Given the description of an element on the screen output the (x, y) to click on. 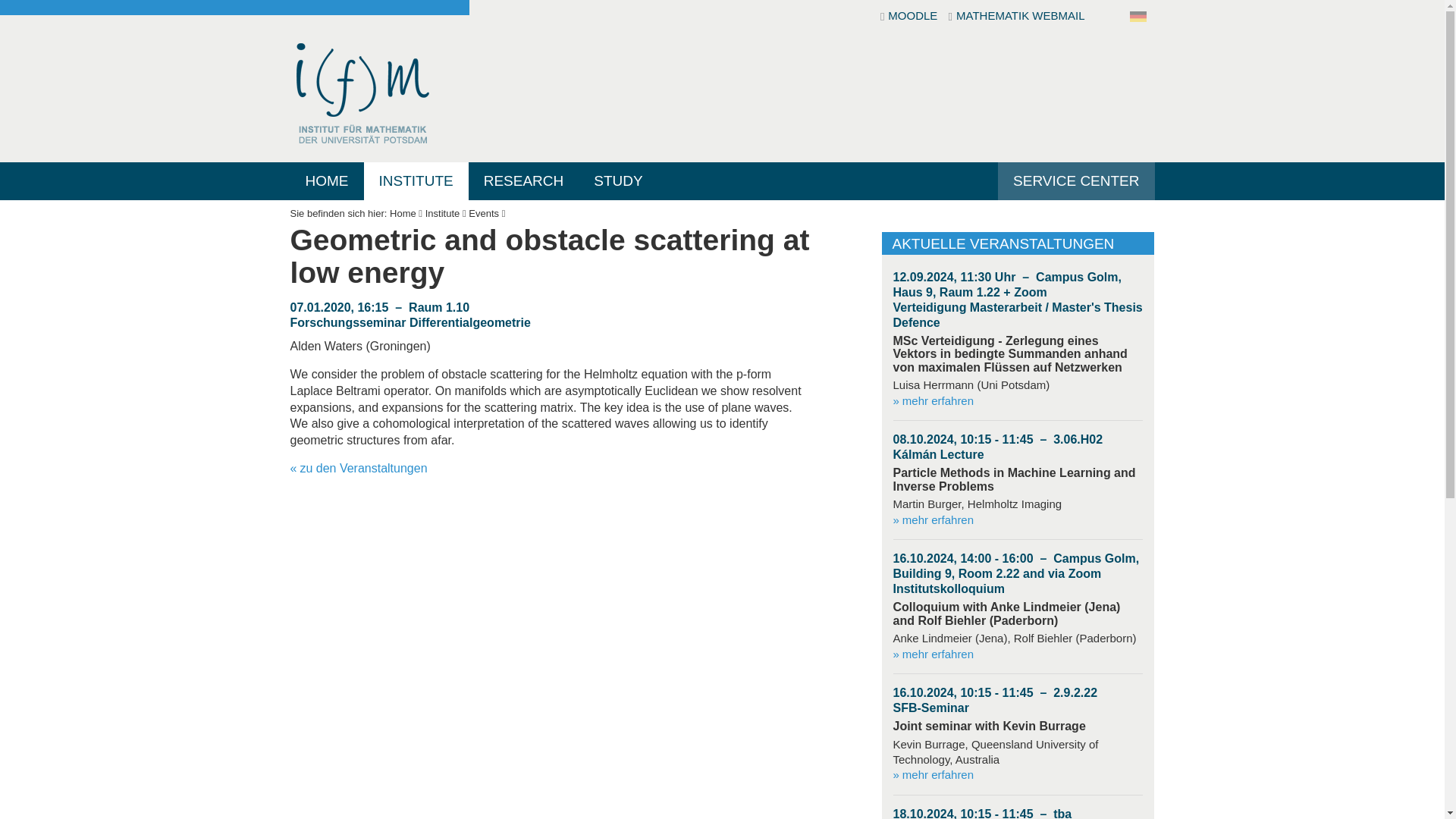
MOODLE (910, 18)
RESEARCH (523, 180)
MATHEMATIK WEBMAIL (1016, 18)
INSTITUTE (416, 180)
HOME (325, 180)
